Given the description of an element on the screen output the (x, y) to click on. 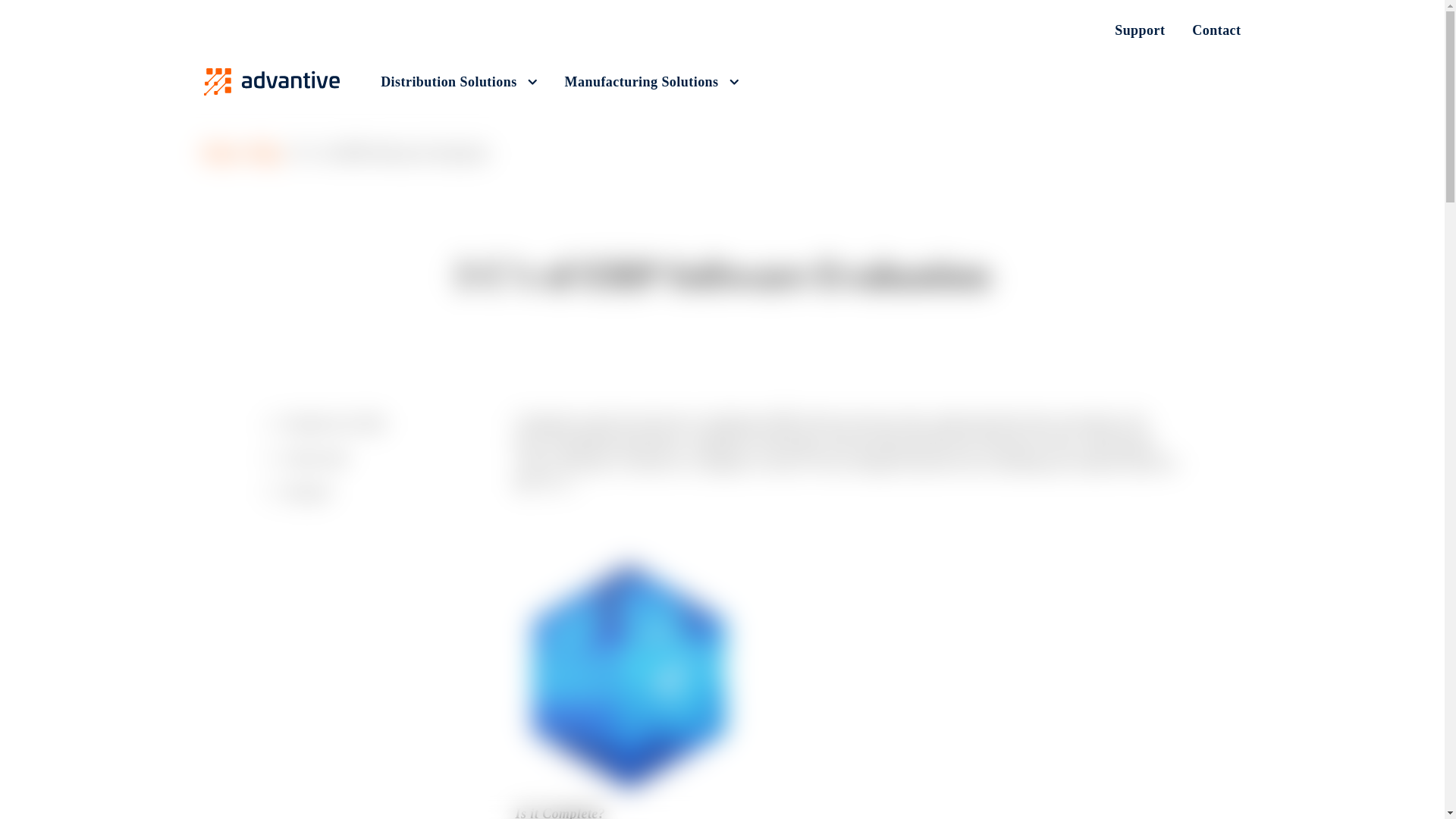
Contact (1208, 30)
Distribution Solutions (458, 81)
Advantive Home (271, 82)
Manufacturing Solutions (651, 81)
Support (1138, 30)
